Given the description of an element on the screen output the (x, y) to click on. 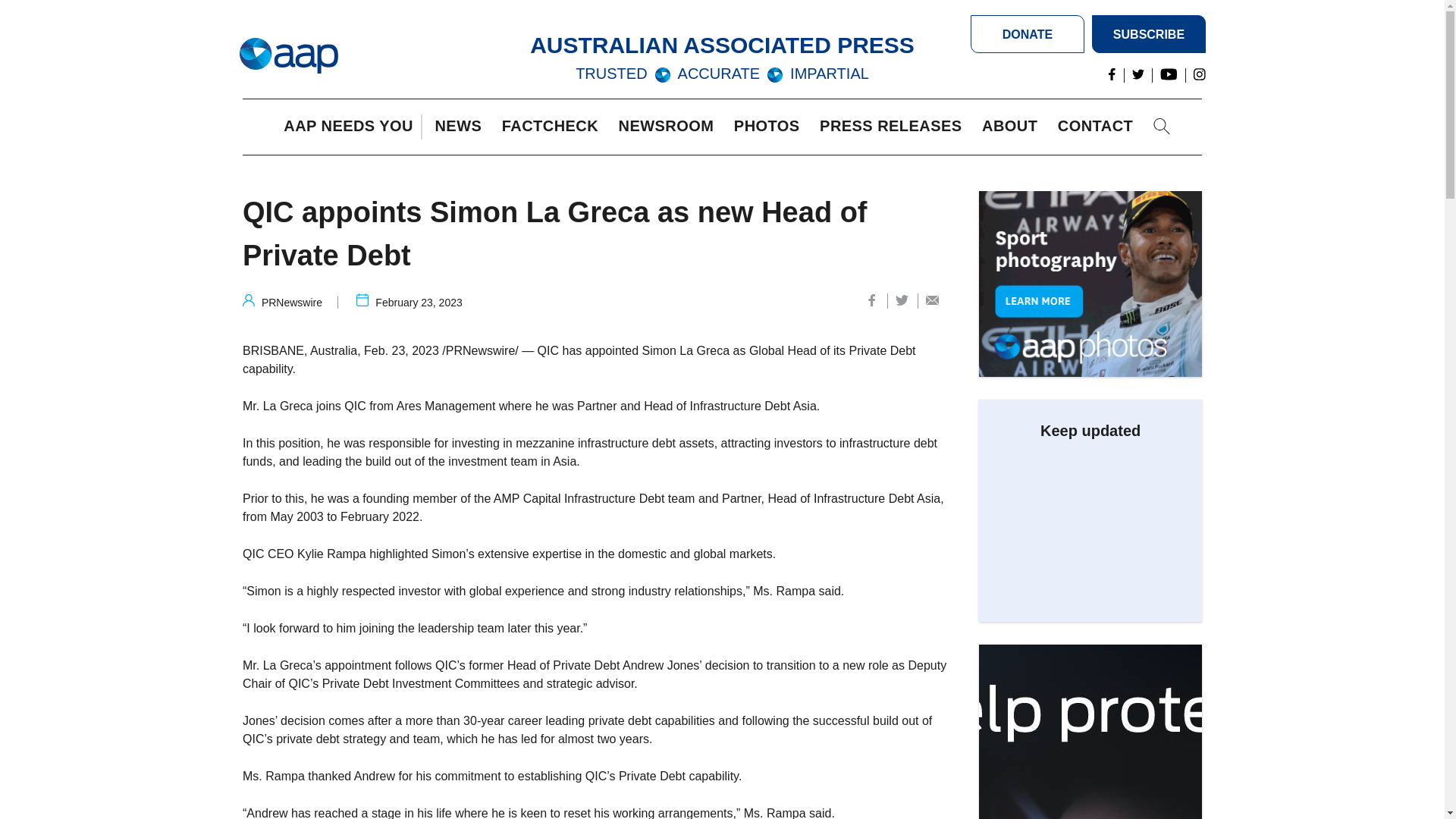
Form 0 (1090, 525)
ABOUT (1013, 126)
AUSTRALIAN ASSOCIATED PRESS (721, 44)
NEWS (461, 126)
CONTACT (1099, 126)
NEWSROOM (670, 126)
PHOTOS (770, 126)
DONATE (1027, 34)
SUBSCRIBE (1148, 34)
PRESS RELEASES (894, 126)
